Given the description of an element on the screen output the (x, y) to click on. 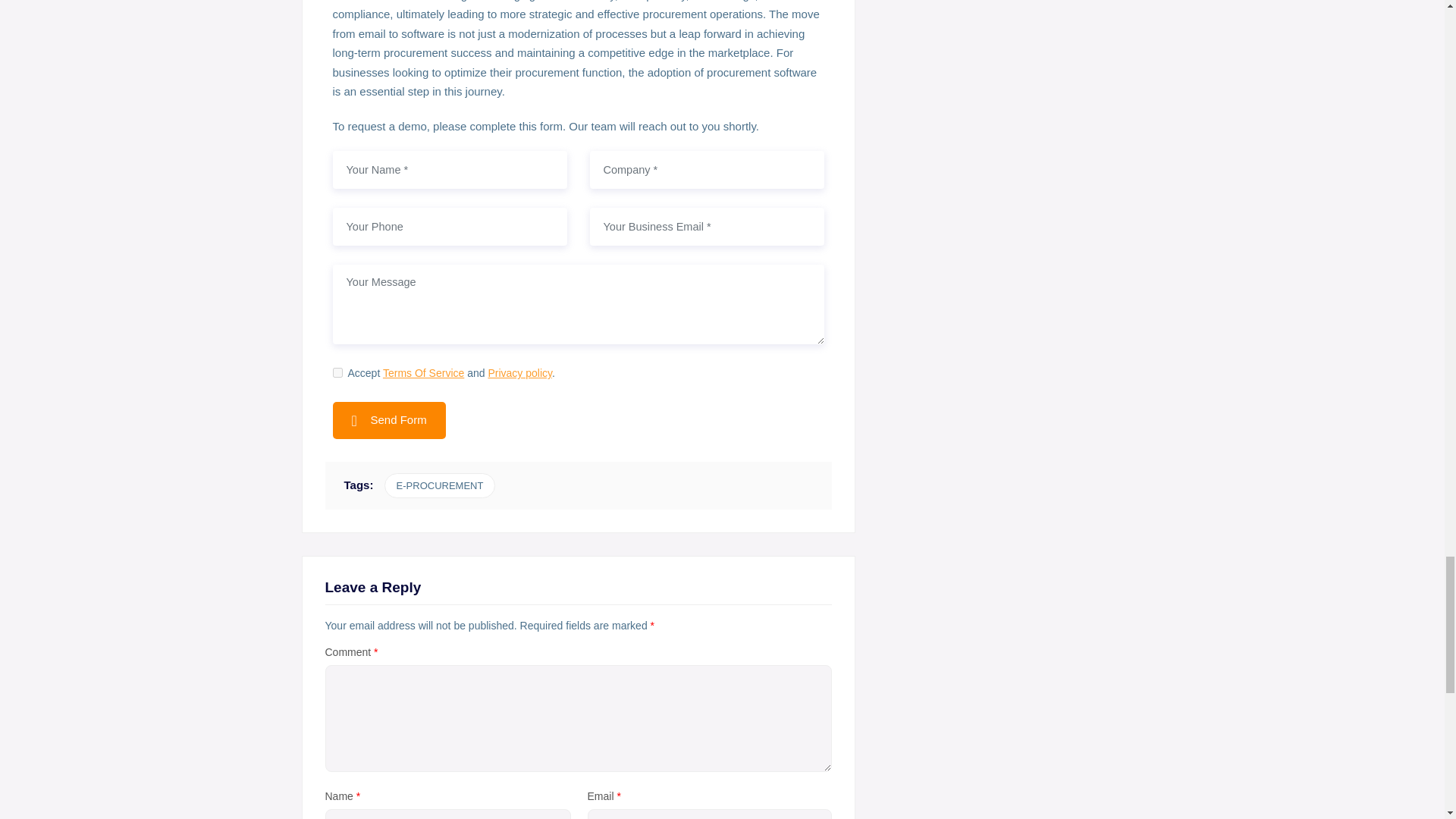
Terms Of Service (423, 372)
E-PROCUREMENT (440, 485)
1 (336, 372)
Send Form (388, 420)
Privacy policy (519, 372)
